Given the description of an element on the screen output the (x, y) to click on. 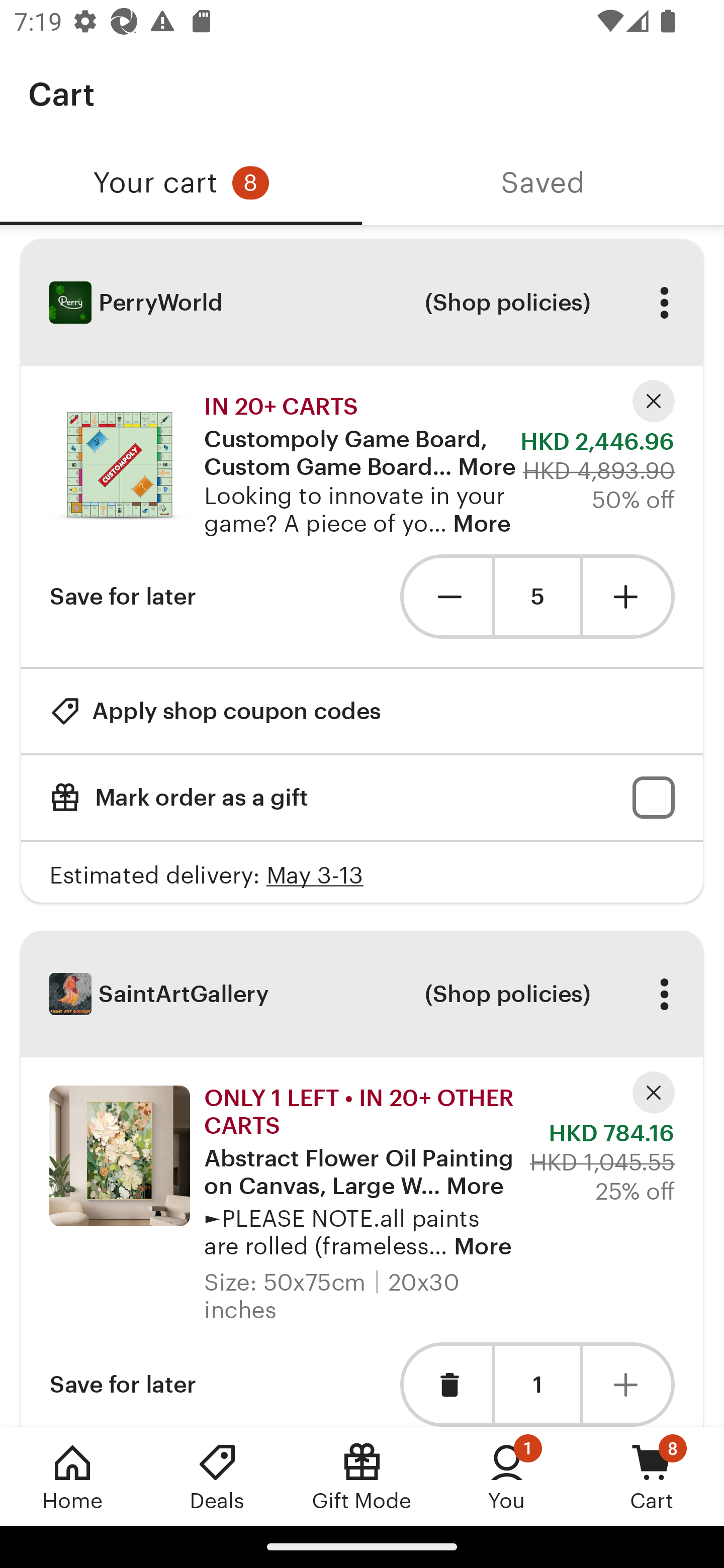
Saved, tab 2 of 2 Saved (543, 183)
PerryWorld (Shop policies) More options (361, 302)
(Shop policies) (507, 302)
More options (663, 302)
Save for later (122, 596)
Remove one unit from cart (445, 596)
Add one unit to cart (628, 596)
5 (537, 597)
Apply shop coupon codes (215, 710)
Mark order as a gift (361, 797)
SaintArtGallery (Shop policies) More options (361, 993)
(Shop policies) (507, 993)
More options (663, 993)
Save for later (122, 1384)
Remove item from cart (445, 1384)
Add one unit to cart (628, 1384)
1 (537, 1384)
Home (72, 1475)
Deals (216, 1475)
Gift Mode (361, 1475)
You, 1 new notification You (506, 1475)
